Given the description of an element on the screen output the (x, y) to click on. 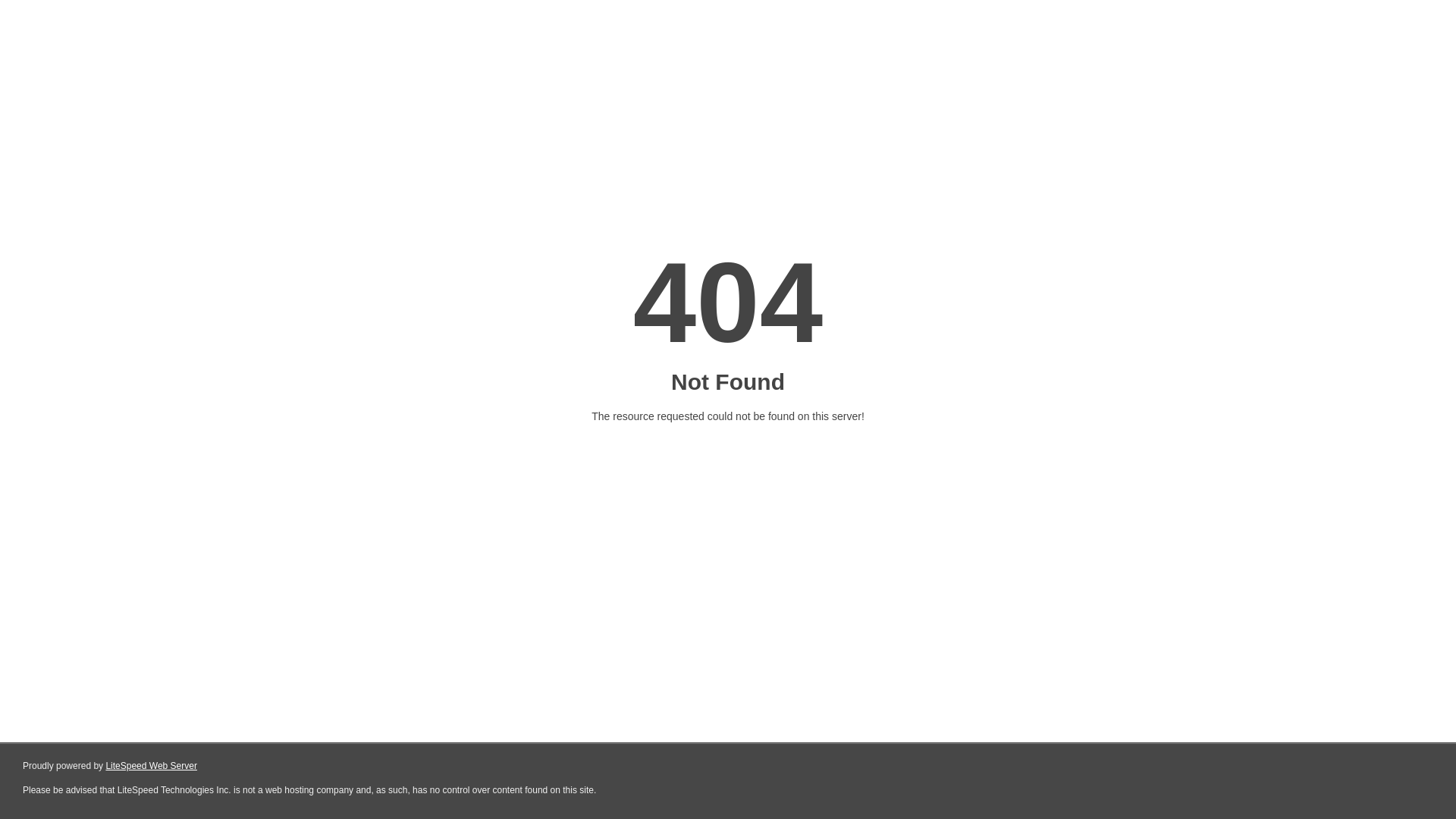
LiteSpeed Web Server Element type: text (151, 765)
